Given the description of an element on the screen output the (x, y) to click on. 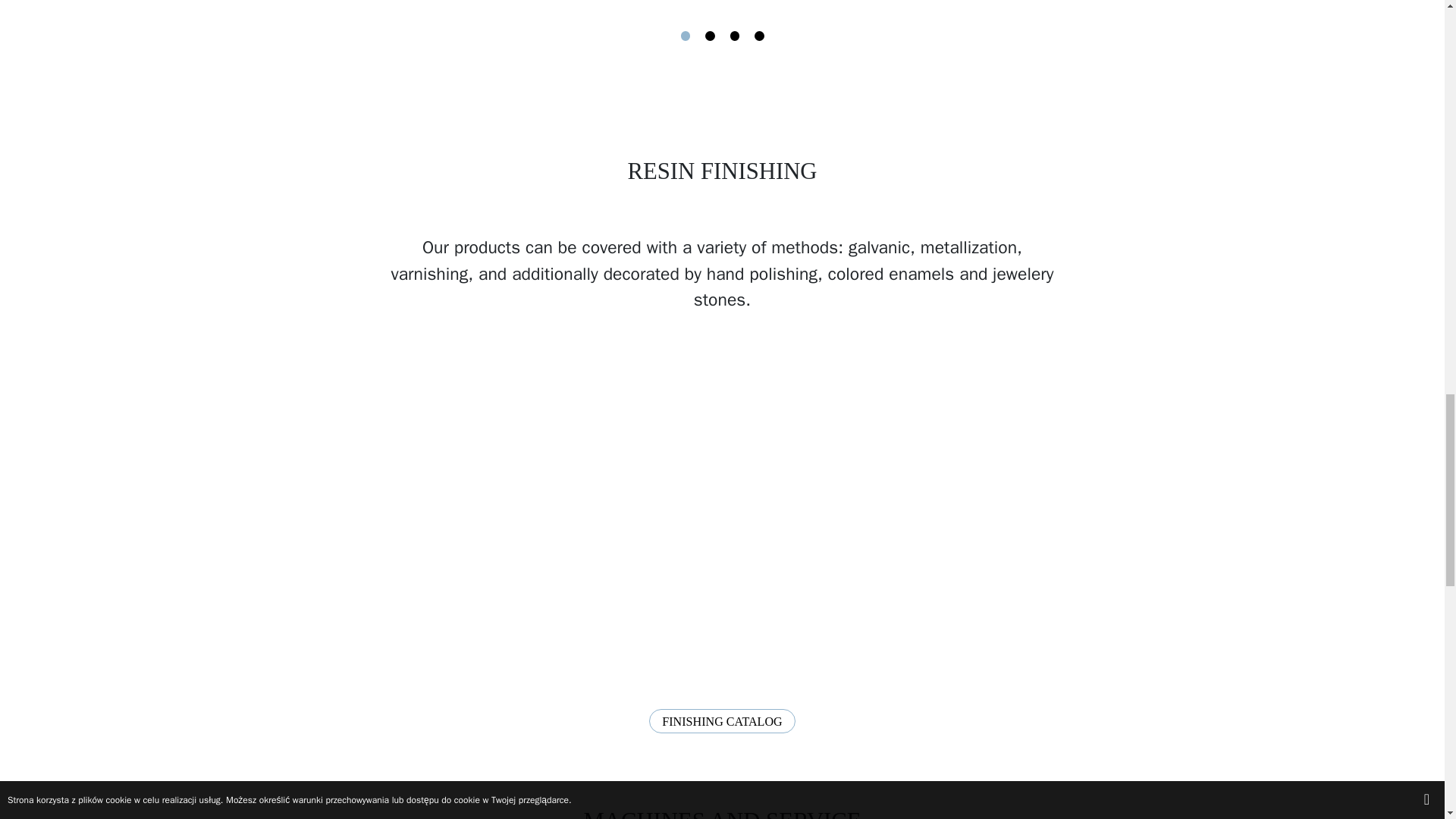
FINISHING CATALOG (721, 721)
